Given the description of an element on the screen output the (x, y) to click on. 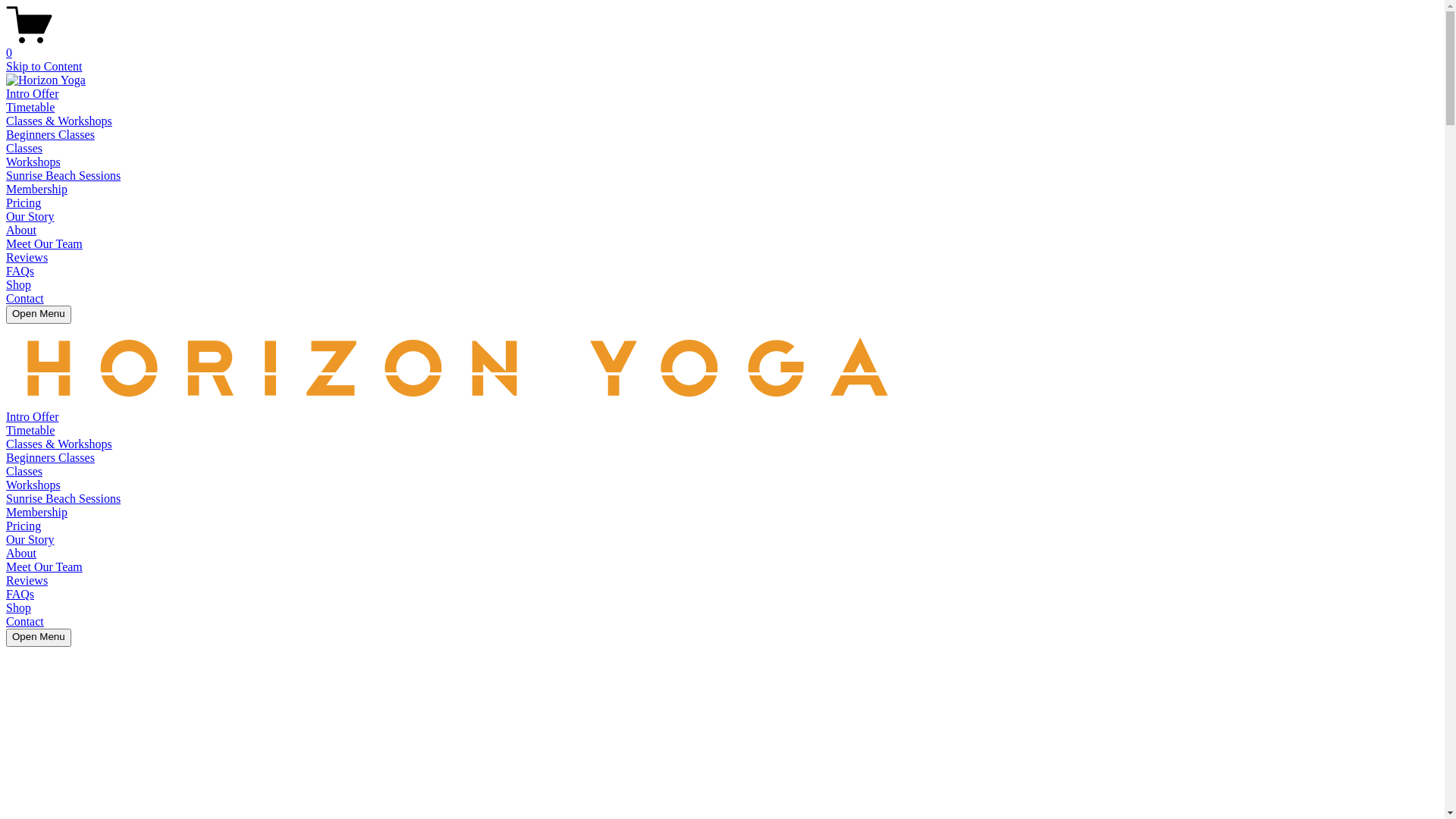
Workshops Element type: text (33, 484)
Timetable Element type: text (30, 106)
Intro Offer Element type: text (32, 93)
Meet Our Team Element type: text (44, 566)
Pricing Element type: text (23, 202)
Beginners Classes Element type: text (50, 457)
About Element type: text (21, 229)
Contact Element type: text (24, 297)
Beginners Classes Element type: text (50, 134)
Sunrise Beach Sessions Element type: text (63, 175)
Classes & Workshops Element type: text (59, 443)
Pricing Element type: text (23, 525)
Shop Element type: text (18, 284)
Reviews Element type: text (26, 257)
Membership Element type: text (36, 511)
Skip to Content Element type: text (43, 65)
FAQs Element type: text (20, 270)
Classes Element type: text (24, 470)
Intro Offer Element type: text (32, 416)
Timetable Element type: text (30, 429)
Open Menu Element type: text (38, 314)
Reviews Element type: text (26, 580)
Classes Element type: text (24, 147)
0 Element type: text (722, 45)
Contact Element type: text (24, 621)
Sunrise Beach Sessions Element type: text (63, 498)
Meet Our Team Element type: text (44, 243)
Membership Element type: text (36, 188)
Our Story Element type: text (30, 539)
Shop Element type: text (18, 607)
Open Menu Element type: text (38, 637)
FAQs Element type: text (20, 593)
Our Story Element type: text (30, 216)
Classes & Workshops Element type: text (59, 120)
About Element type: text (21, 552)
Workshops Element type: text (33, 161)
